Given the description of an element on the screen output the (x, y) to click on. 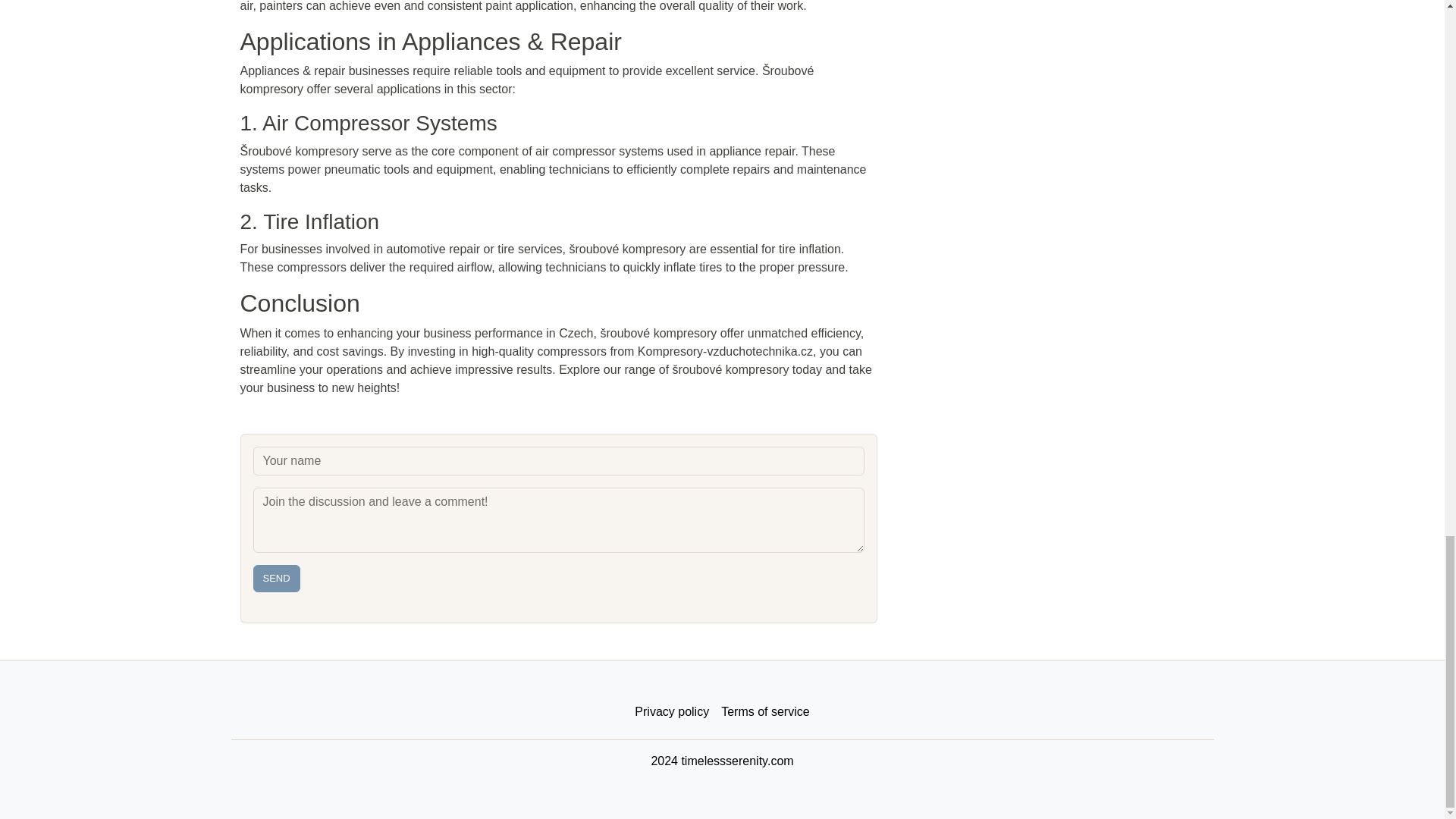
Terms of service (764, 711)
Privacy policy (671, 711)
Send (276, 578)
Send (276, 578)
